Given the description of an element on the screen output the (x, y) to click on. 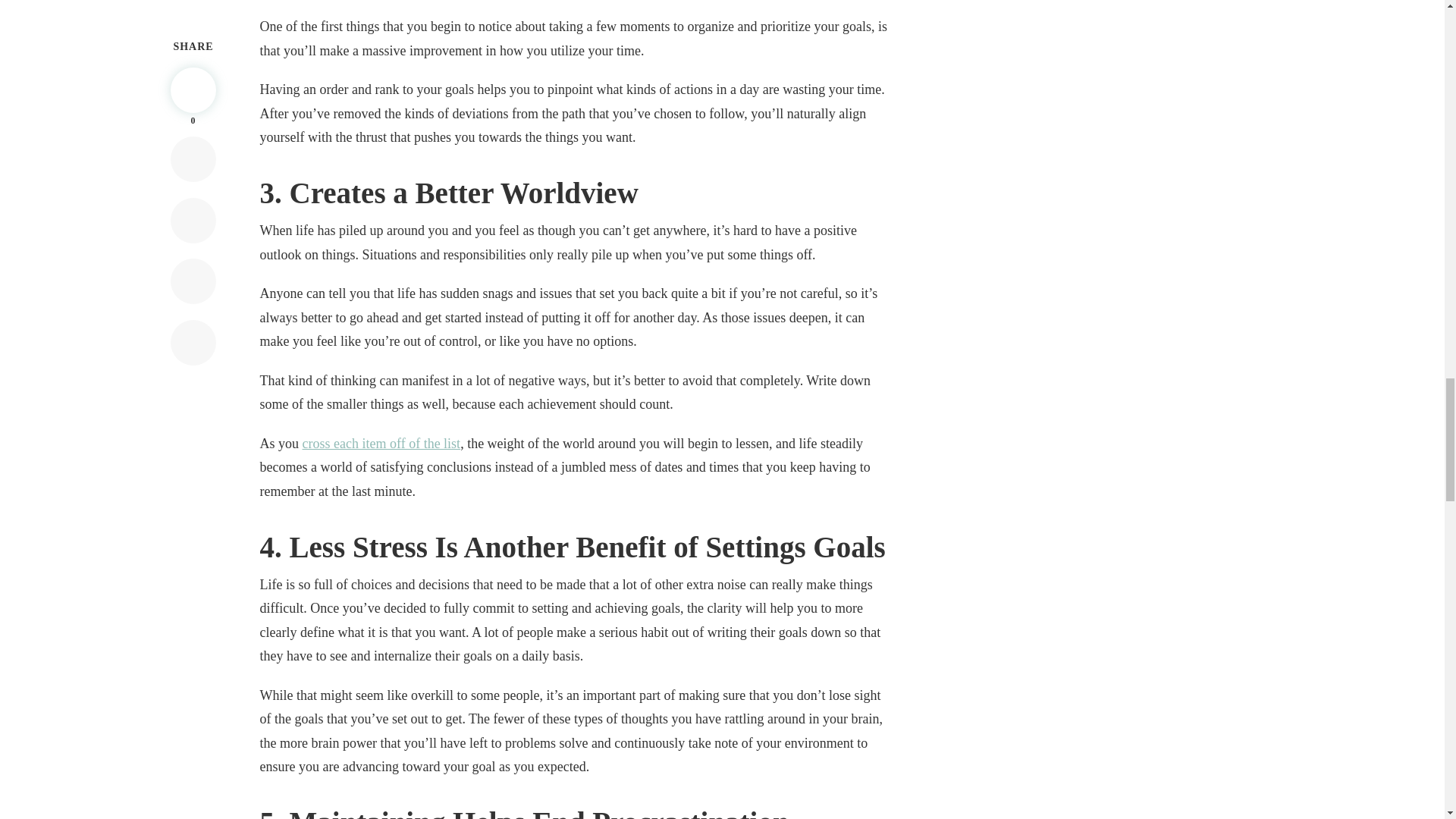
cross each item off of the list (381, 443)
